Given the description of an element on the screen output the (x, y) to click on. 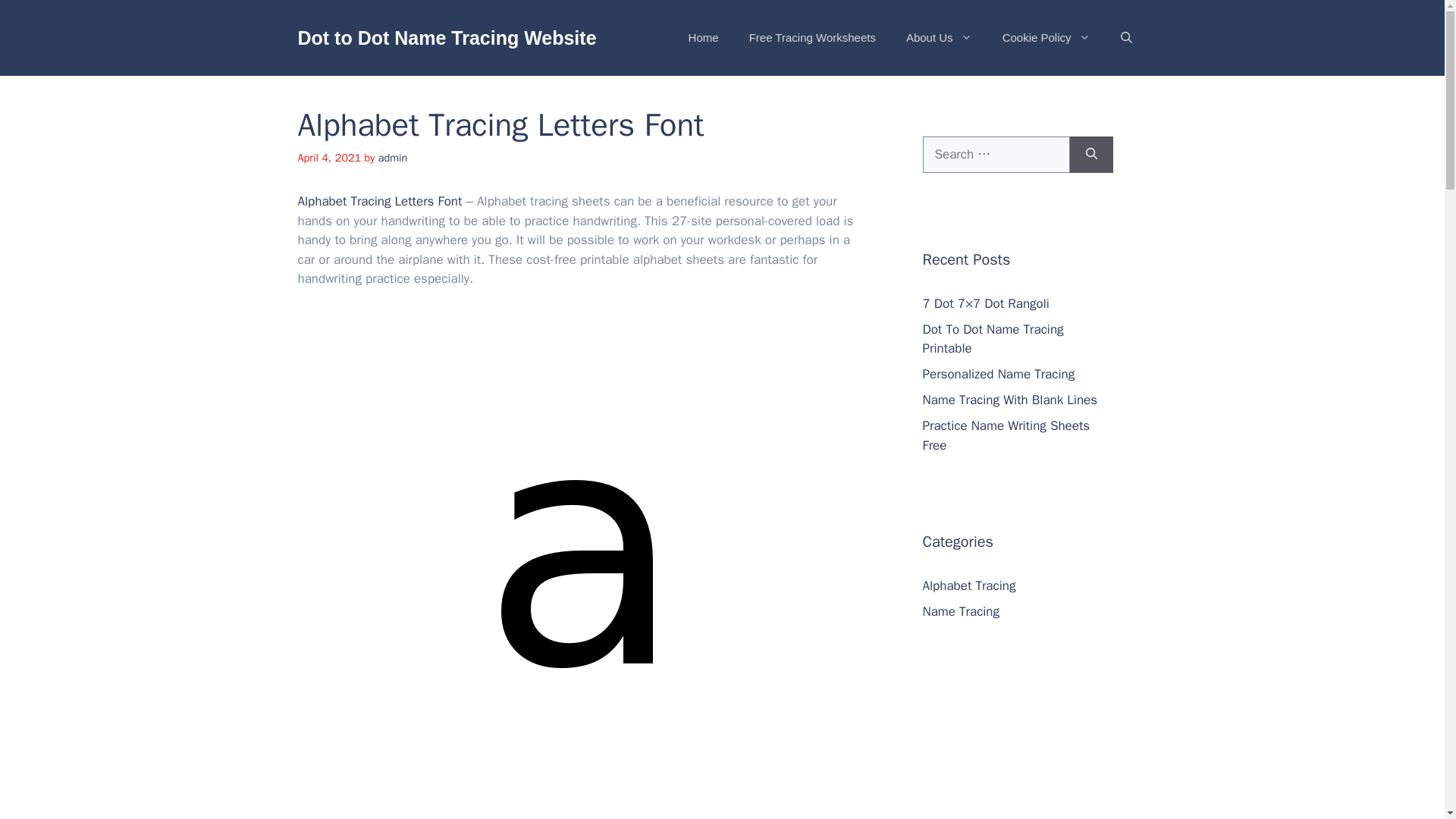
Dot To Dot Name Tracing Printable (991, 339)
Personalized Name Tracing (997, 374)
Free Tracing Worksheets (812, 37)
Dot to Dot Name Tracing Website (446, 37)
Name Tracing With Blank Lines (1009, 399)
Search for: (994, 154)
Practice Name Writing Sheets Free (1005, 435)
Name Tracing (959, 611)
Alphabet Tracing Letters Font (379, 201)
Alphabet Tracing (967, 585)
About Us (939, 37)
Home (702, 37)
Cookie Policy (1046, 37)
View all posts by admin (392, 157)
admin (392, 157)
